Given the description of an element on the screen output the (x, y) to click on. 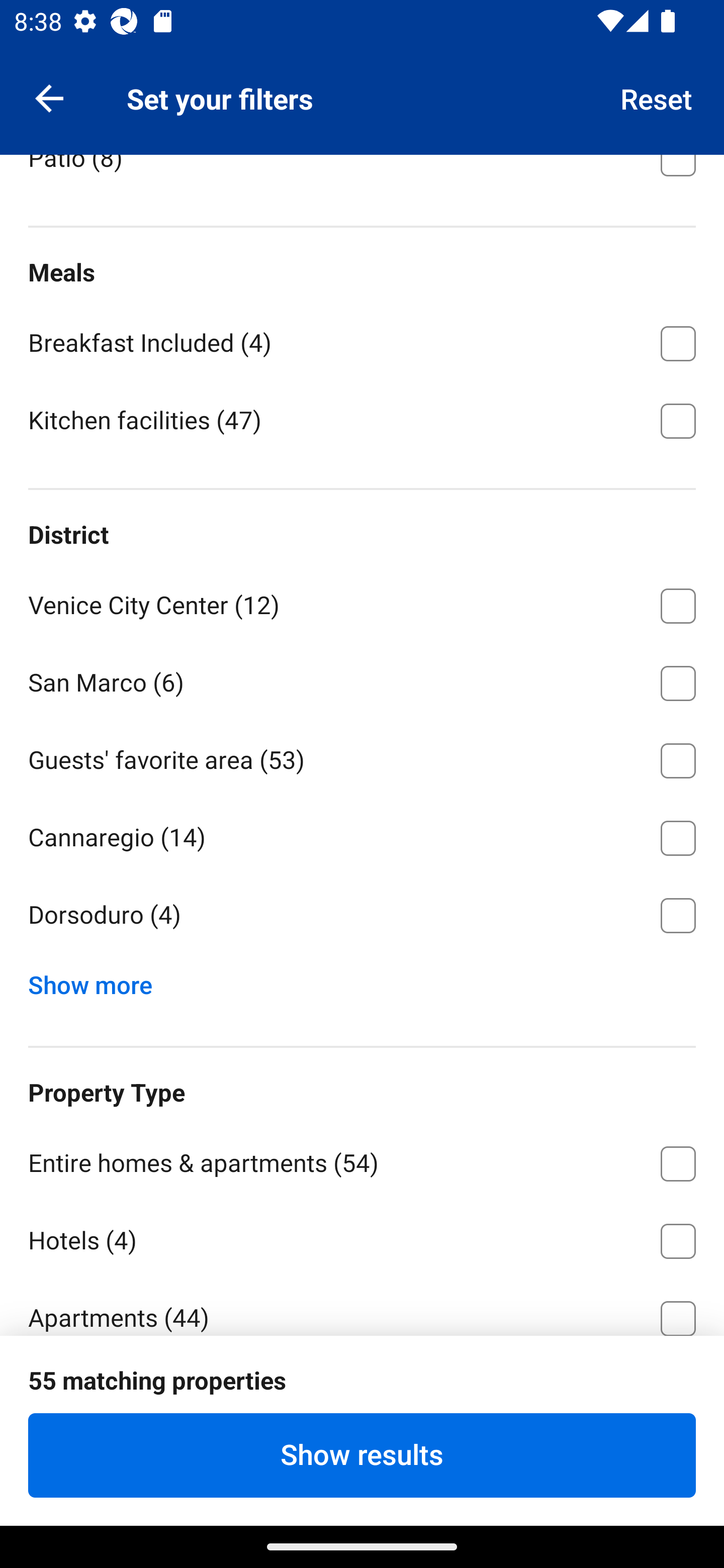
Soundproof ⁦(24) (361, 77)
Navigate up (49, 97)
Reset (656, 97)
Breakfast Included ⁦(4) (361, 340)
Kitchen facilities ⁦(47) (361, 419)
Venice City Center ⁦(12) (361, 602)
San Marco ⁦(6) (361, 679)
Guests' favorite area ⁦(53) (361, 757)
Cannaregio ⁦(14) (361, 834)
Dorsoduro ⁦(4) (361, 915)
Show more (97, 980)
Entire homes & apartments ⁦(54) (361, 1160)
Hotels ⁦(4) (361, 1237)
Apartments ⁦(44) (361, 1305)
Vacation Homes ⁦(4) (361, 1392)
Show results (361, 1454)
